Given the description of an element on the screen output the (x, y) to click on. 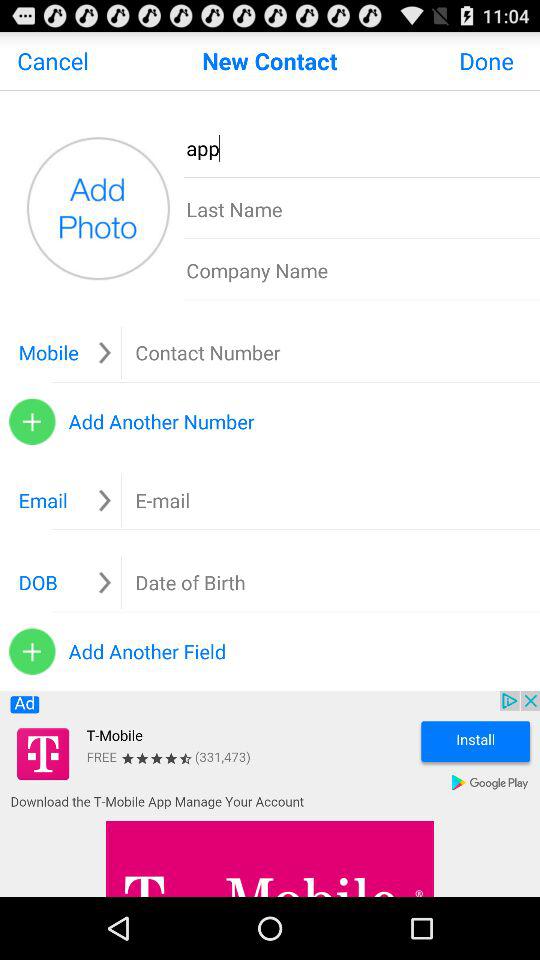
for adverisment (270, 794)
